Given the description of an element on the screen output the (x, y) to click on. 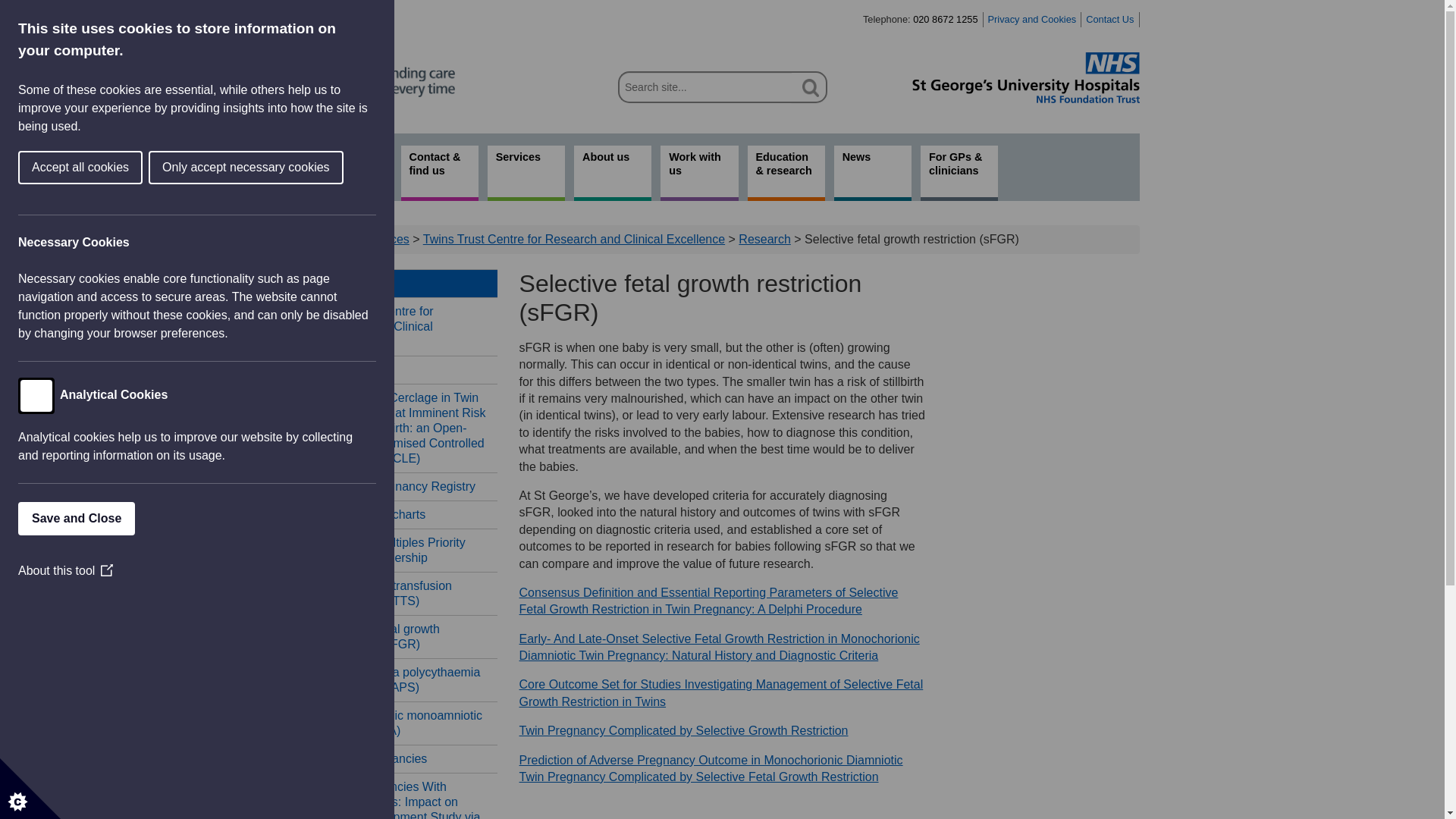
St George's University Hospitals NHS Foundation Trust (1024, 77)
Work with us (699, 172)
Research (400, 369)
020 8672 1255 (944, 19)
Go to Research. (764, 238)
Multiple Pregnancy Registry (400, 486)
Services (385, 238)
Visiting us (440, 172)
Home (333, 238)
Privacy and Cookies (1032, 19)
Privacy and Cookies (1032, 19)
Services (525, 172)
Services (400, 283)
Twins Trust Centre for Research and Clinical Excellence (574, 238)
Twins Trust Centre for Research and Clinical Excellence (400, 326)
